Given the description of an element on the screen output the (x, y) to click on. 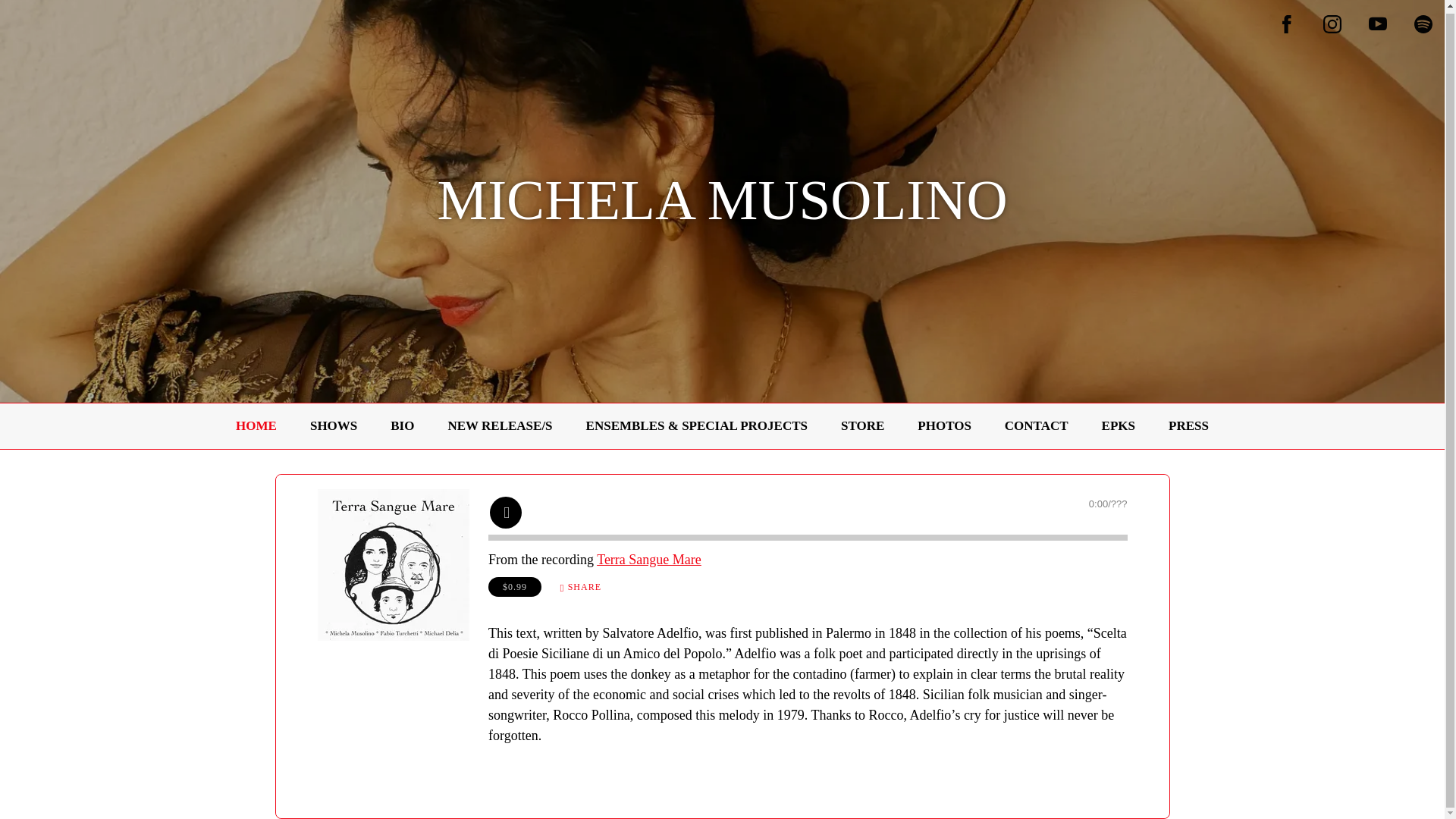
STORE (862, 425)
BIO (401, 425)
SHOWS (333, 425)
MICHELA MUSOLINO (721, 212)
HOME (255, 425)
Share U Sceccu (580, 586)
